Given the description of an element on the screen output the (x, y) to click on. 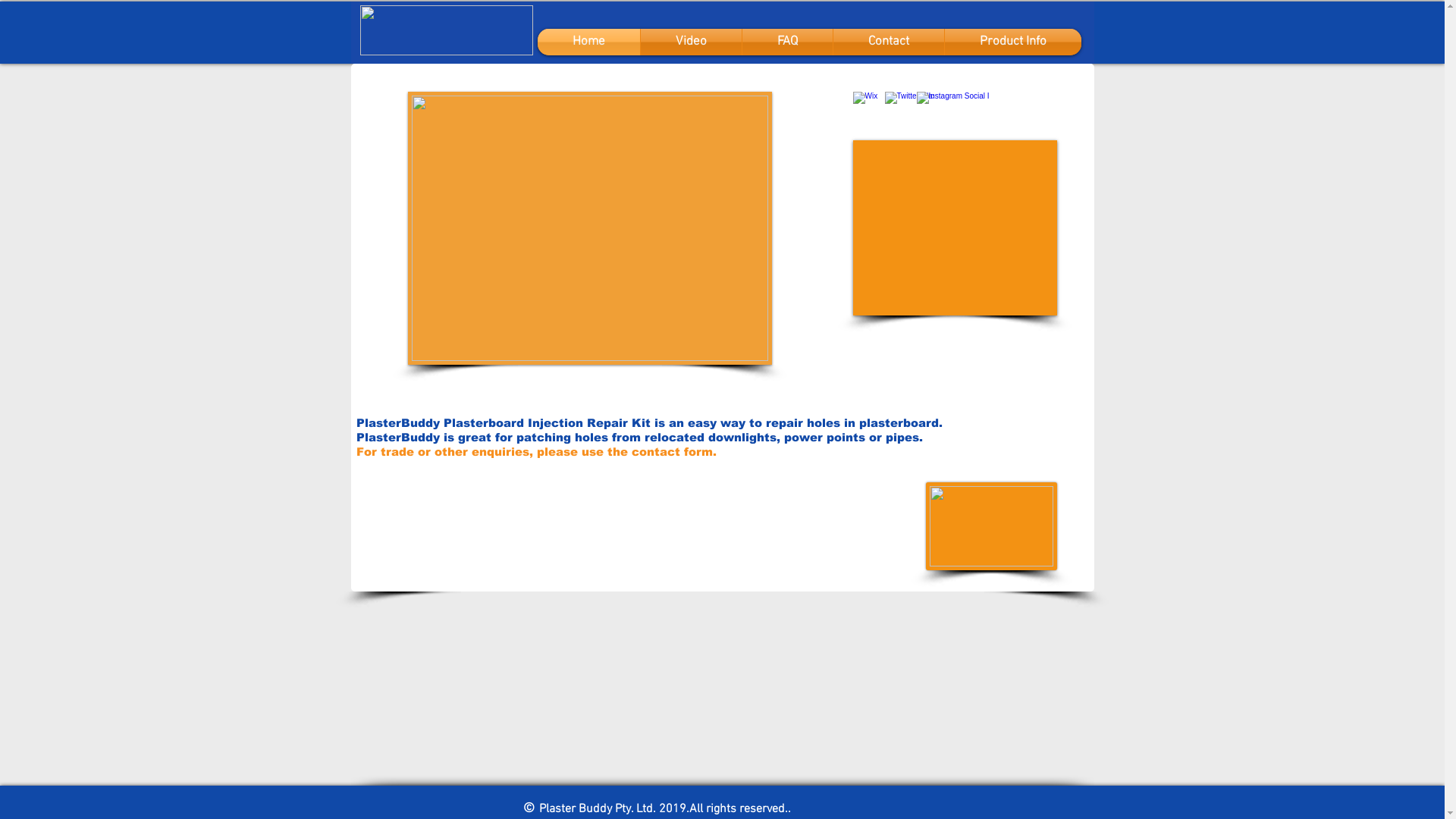
Product Info Element type: text (1012, 41)
FAQ Element type: text (786, 41)
External YouTube Element type: hover (954, 227)
Video Element type: text (690, 41)
Contact Element type: text (887, 41)
Home Element type: text (587, 41)
